Given the description of an element on the screen output the (x, y) to click on. 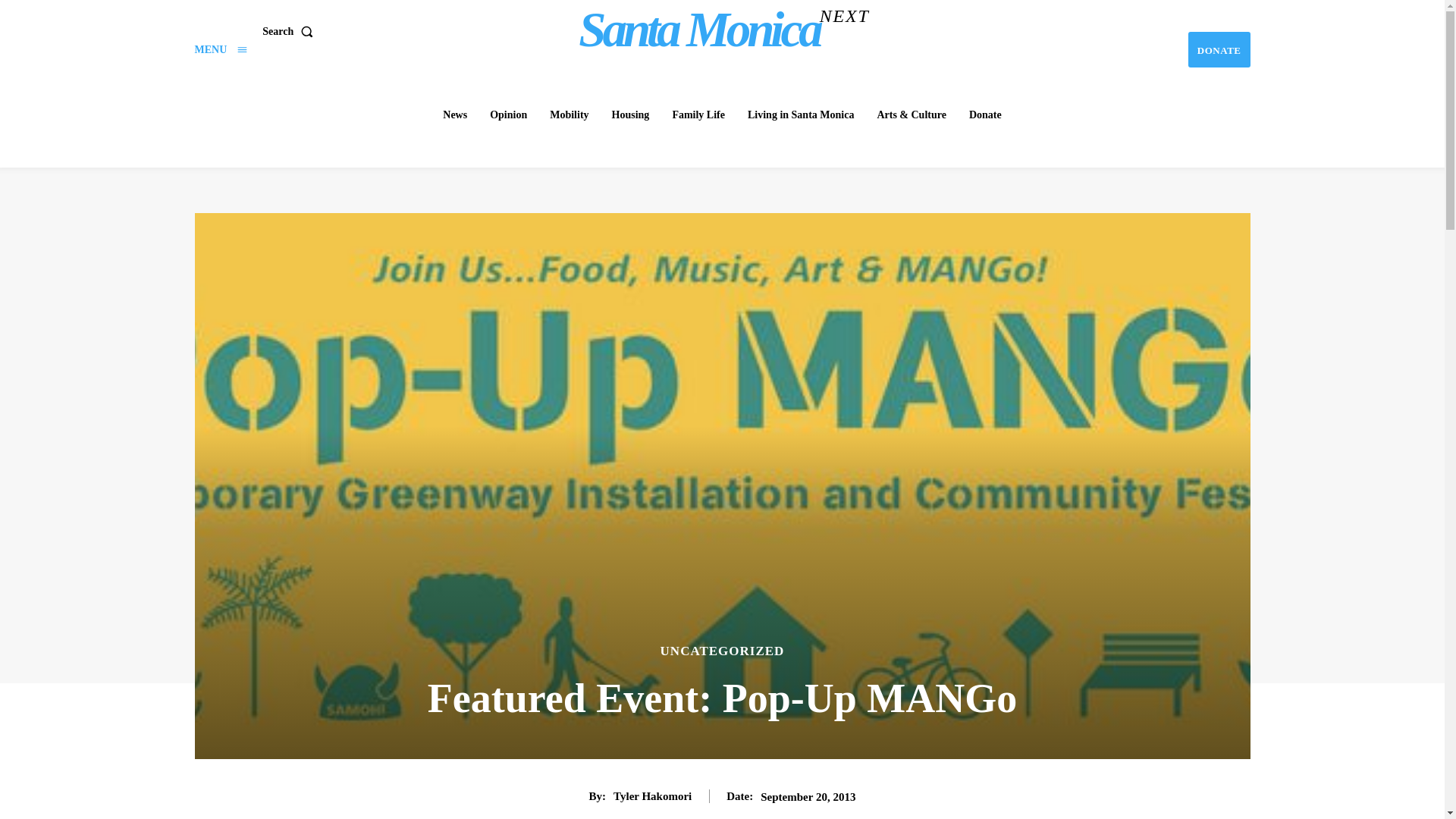
Search (290, 30)
Housing (631, 115)
DONATE (1219, 49)
Opinion (724, 29)
Donate (507, 115)
Living in Santa Monica (1219, 49)
Donate (800, 115)
Menu (984, 115)
MENU (220, 49)
